Given the description of an element on the screen output the (x, y) to click on. 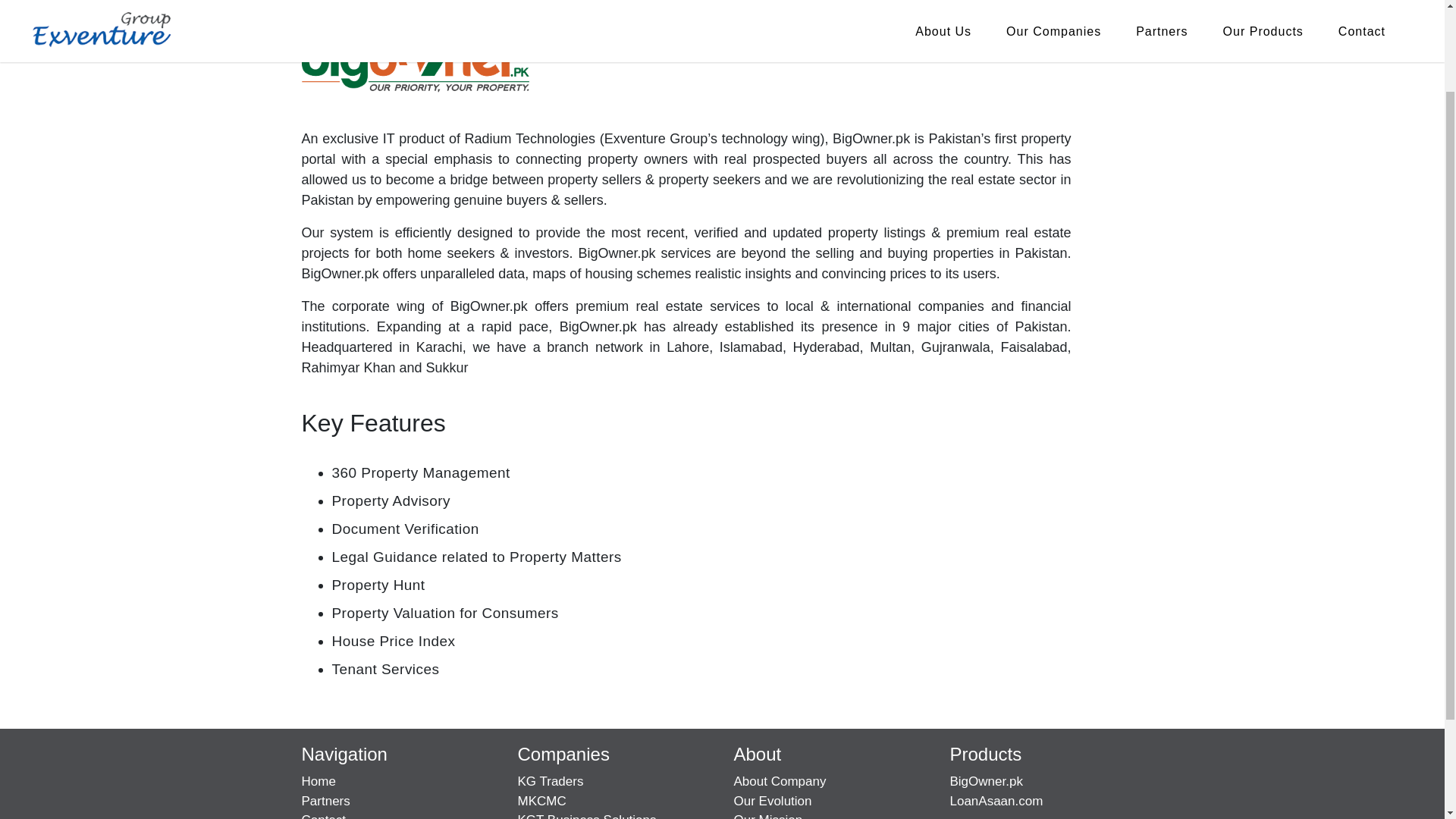
BigOwner.pk (985, 780)
About Company (780, 780)
KG Traders (549, 780)
LoanAsaan.com (995, 800)
Partners (325, 800)
MKCMC (541, 800)
Our Evolution (772, 800)
Home (318, 780)
